Given the description of an element on the screen output the (x, y) to click on. 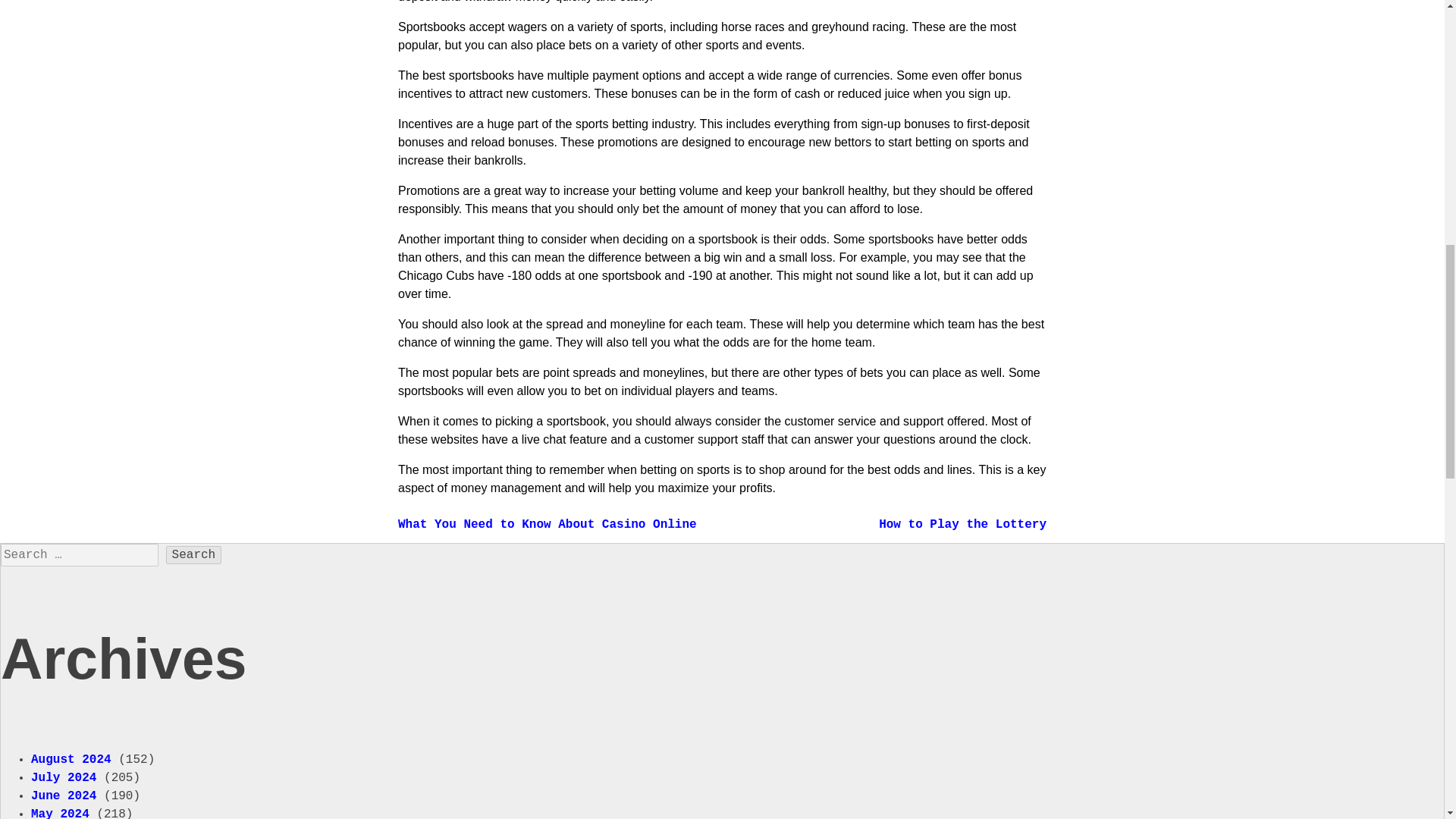
May 2024 (59, 812)
Search (193, 555)
August 2024 (71, 758)
What You Need to Know About Casino Online (547, 524)
Search (193, 555)
Search (193, 555)
July 2024 (63, 776)
June 2024 (63, 795)
How to Play the Lottery (962, 524)
